Given the description of an element on the screen output the (x, y) to click on. 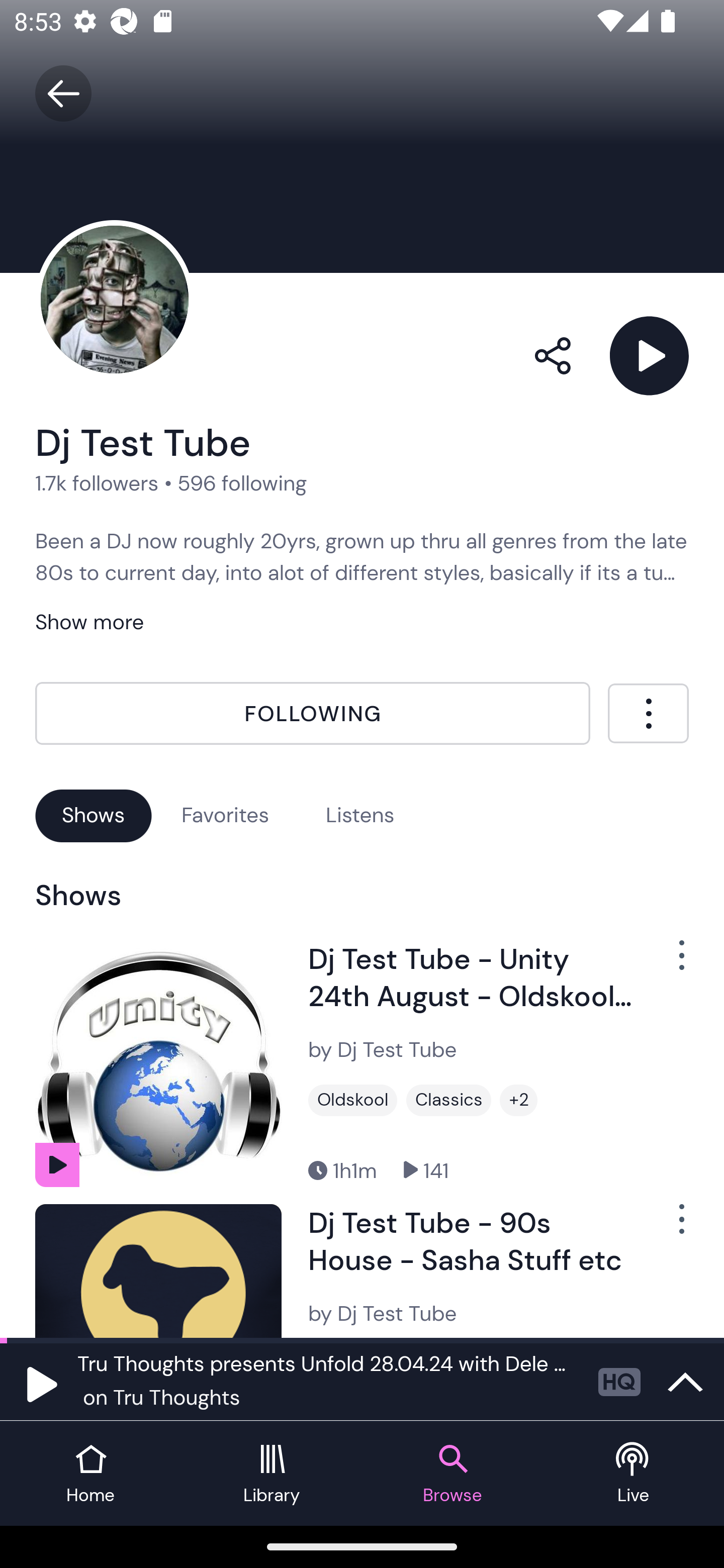
1.7k followers (96, 482)
596 following (241, 482)
Following FOLLOWING (312, 713)
More Menu (648, 713)
Shows (93, 815)
Favorites (225, 815)
Listens (359, 815)
Show Options Menu Button (670, 963)
Oldskool (352, 1100)
Classics (448, 1100)
Show Options Menu Button (670, 1226)
Home tab Home (90, 1473)
Library tab Library (271, 1473)
Browse tab Browse (452, 1473)
Live tab Live (633, 1473)
